Given the description of an element on the screen output the (x, y) to click on. 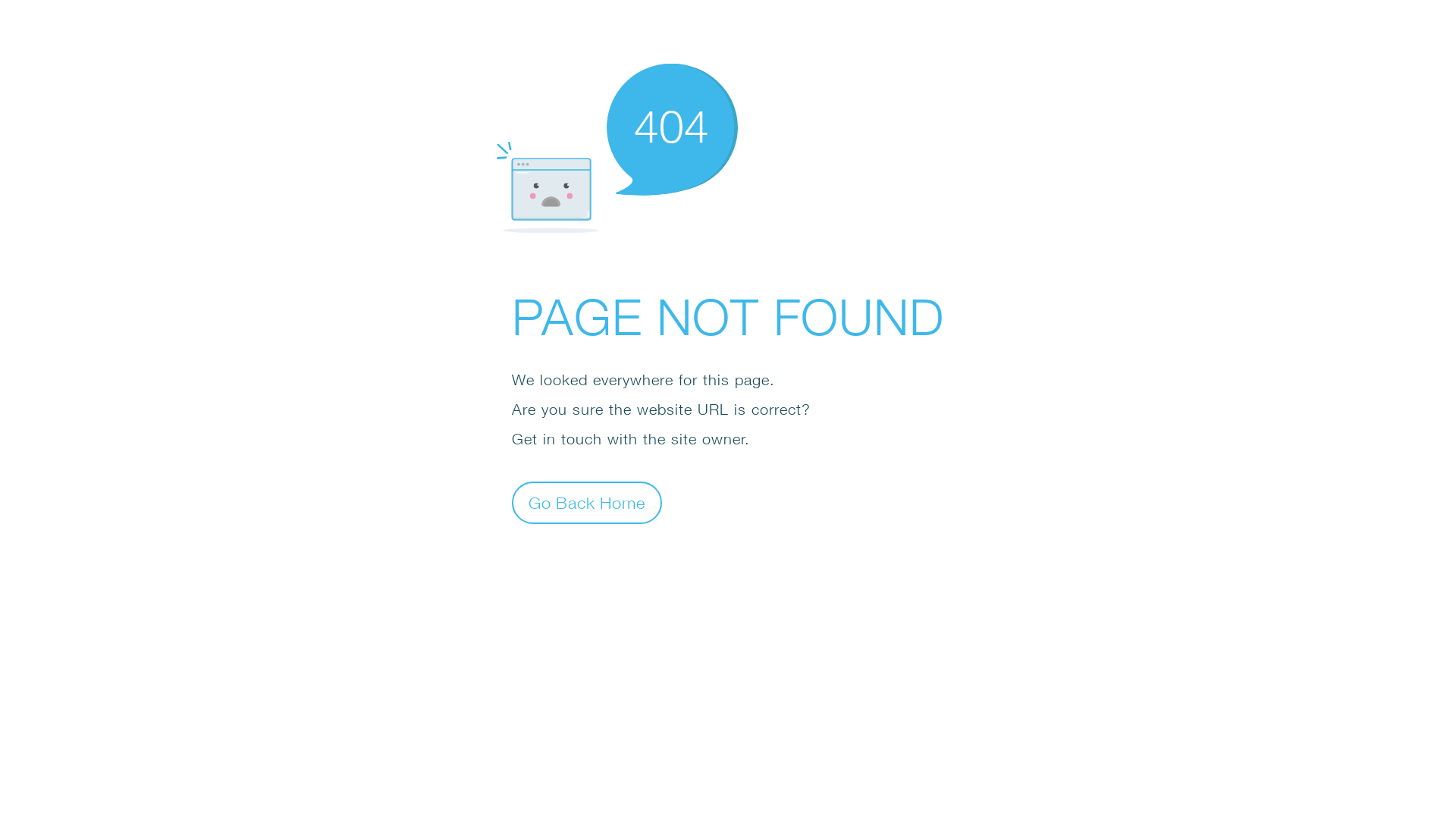
Go Back Home Element type: text (586, 502)
